Given the description of an element on the screen output the (x, y) to click on. 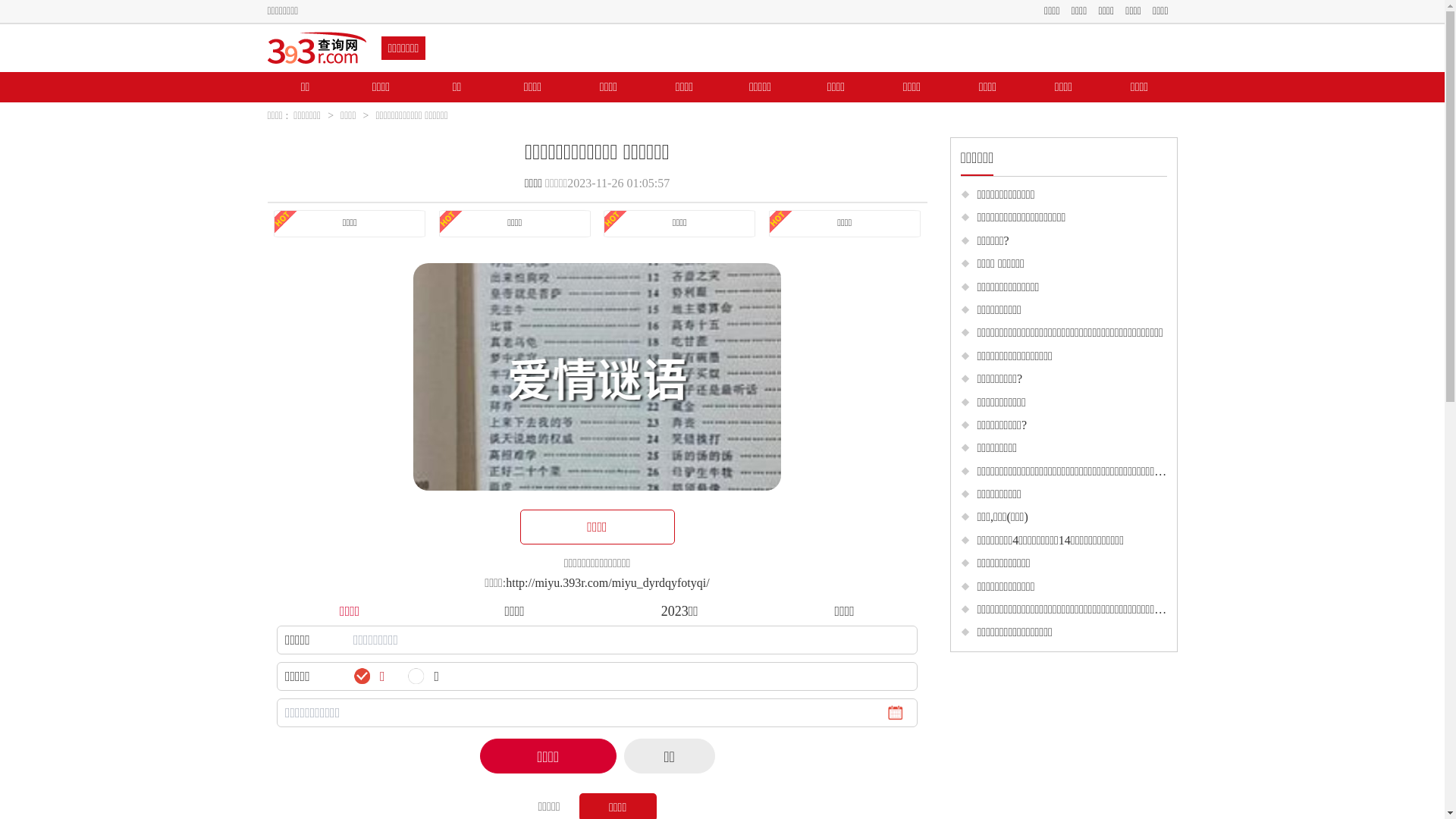
http://miyu.393r.com/miyu_dyrdqyfotyqi/ Element type: text (607, 582)
